Given the description of an element on the screen output the (x, y) to click on. 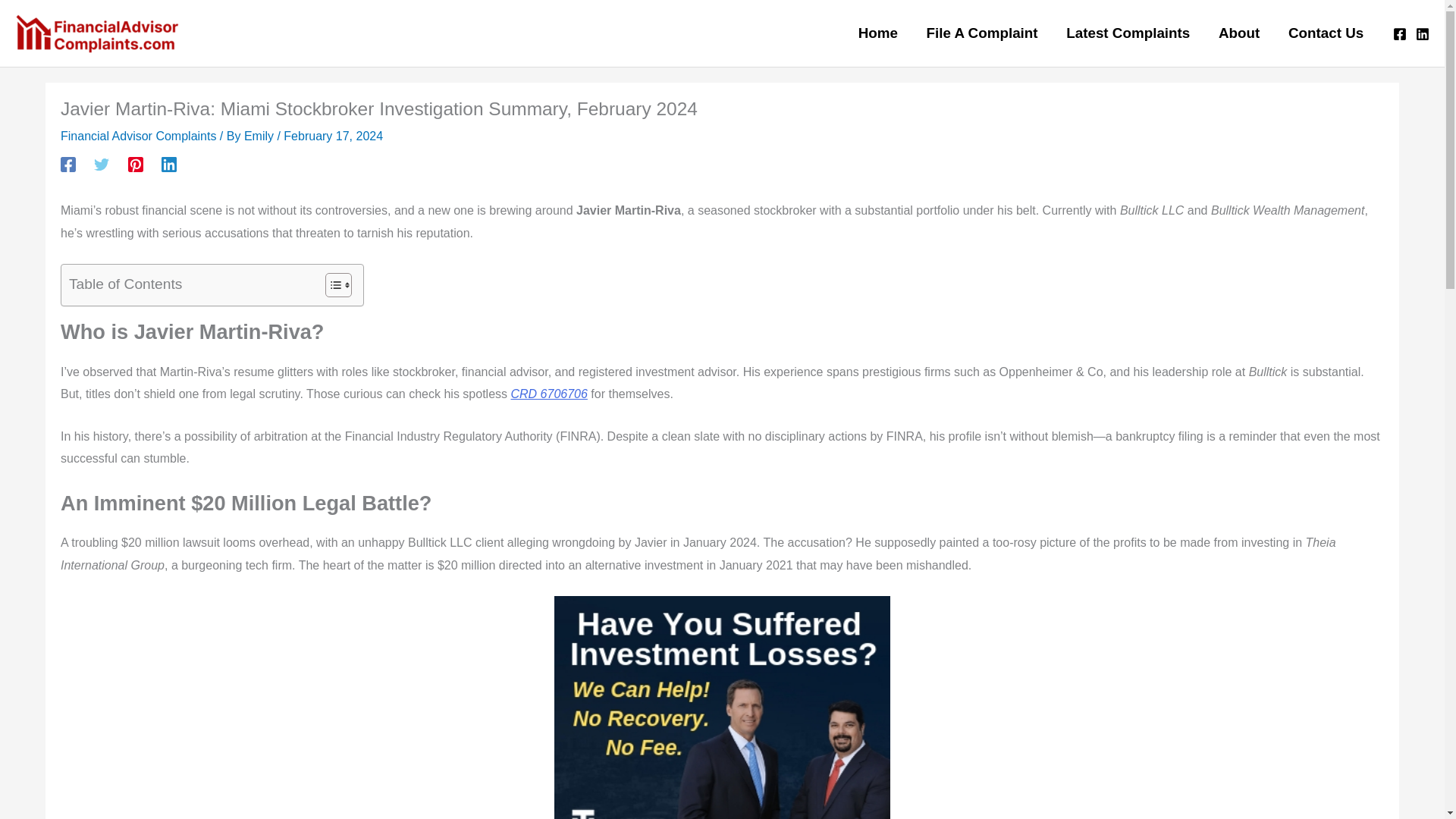
Financial Advisor Complaints (138, 135)
View all posts by Emily (261, 135)
File A Complaint (982, 33)
Latest Complaints (1127, 33)
Emily (261, 135)
CRD 6706706 (548, 393)
About (1239, 33)
Home (878, 33)
Contact Us (1325, 33)
